Given the description of an element on the screen output the (x, y) to click on. 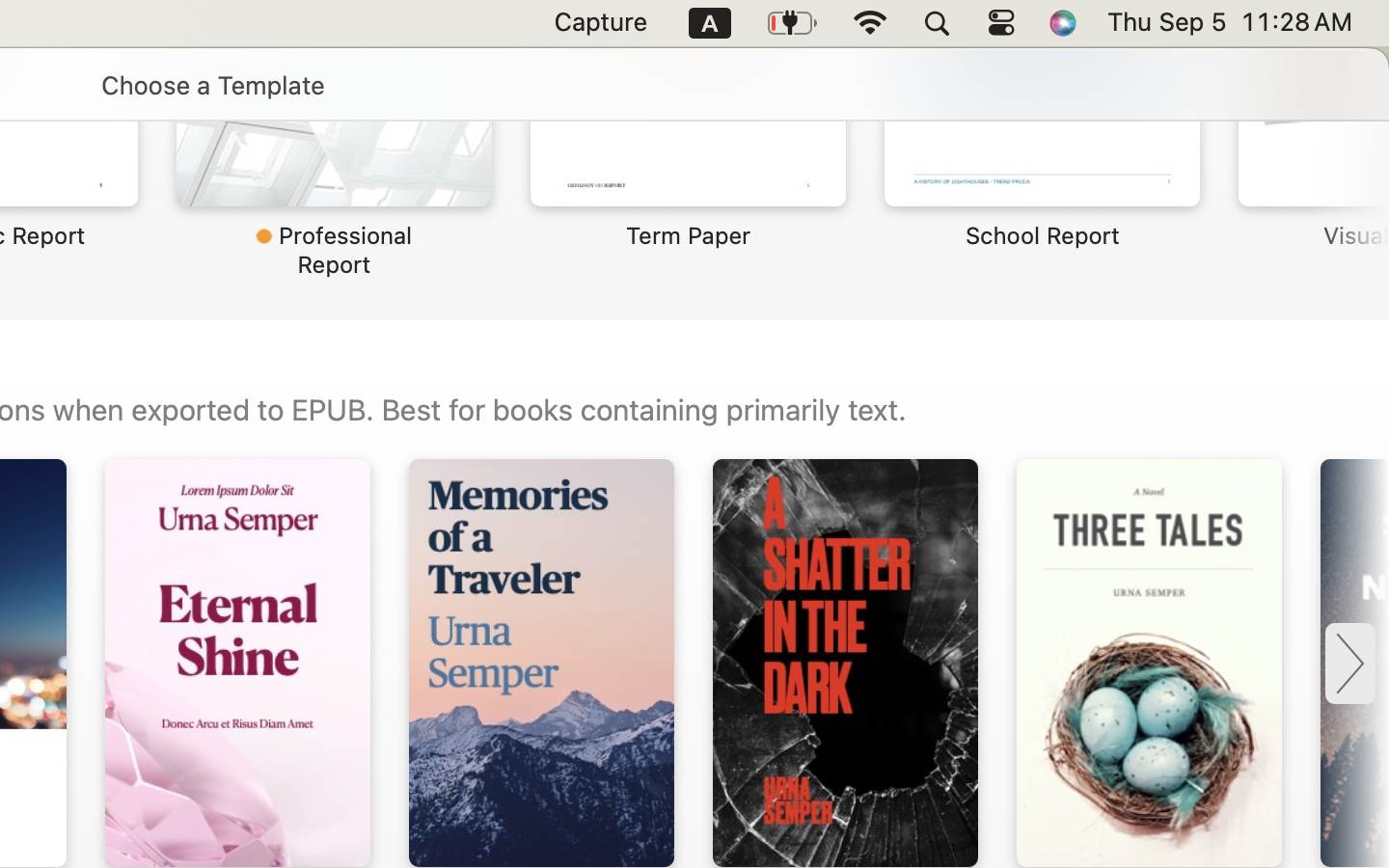
Choose a Template Element type: AXStaticText (211, 84)
